Given the description of an element on the screen output the (x, y) to click on. 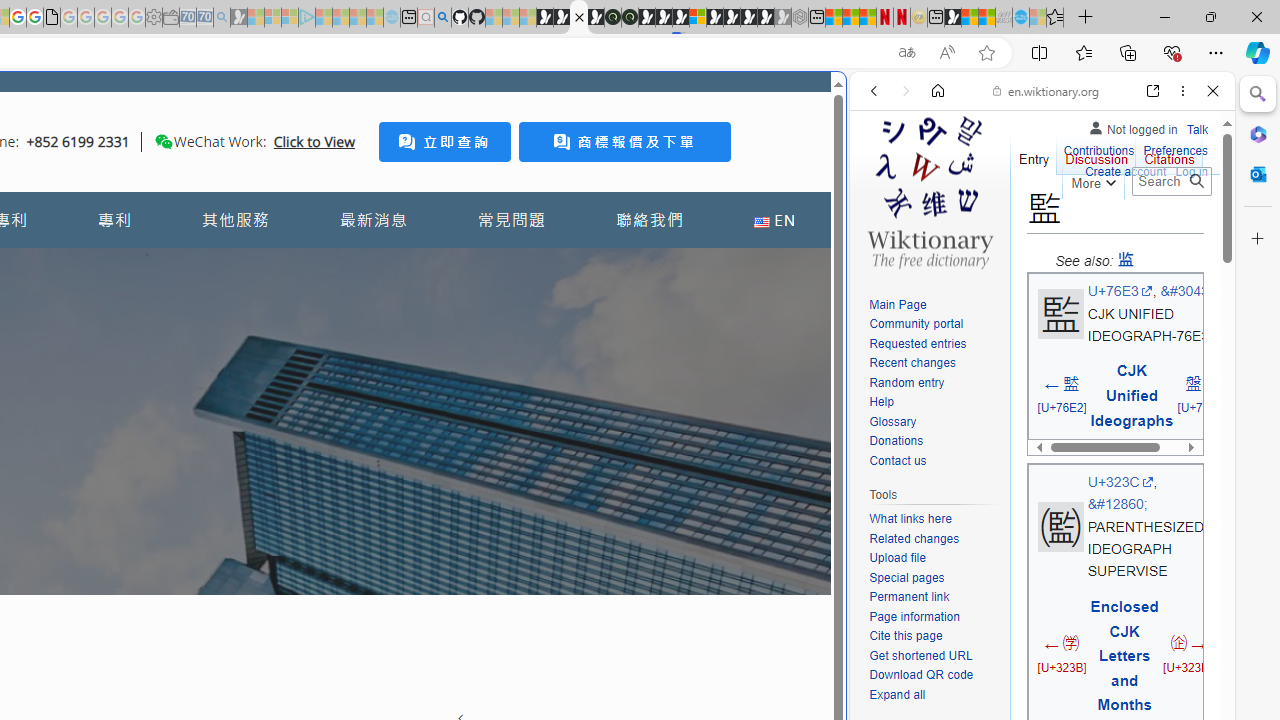
&#30435; (1190, 291)
Requested entries (934, 344)
Permanent link (909, 596)
Requested entries (917, 343)
Sign in to your account (697, 17)
Talk (1197, 126)
U+323C (1120, 481)
